Given the description of an element on the screen output the (x, y) to click on. 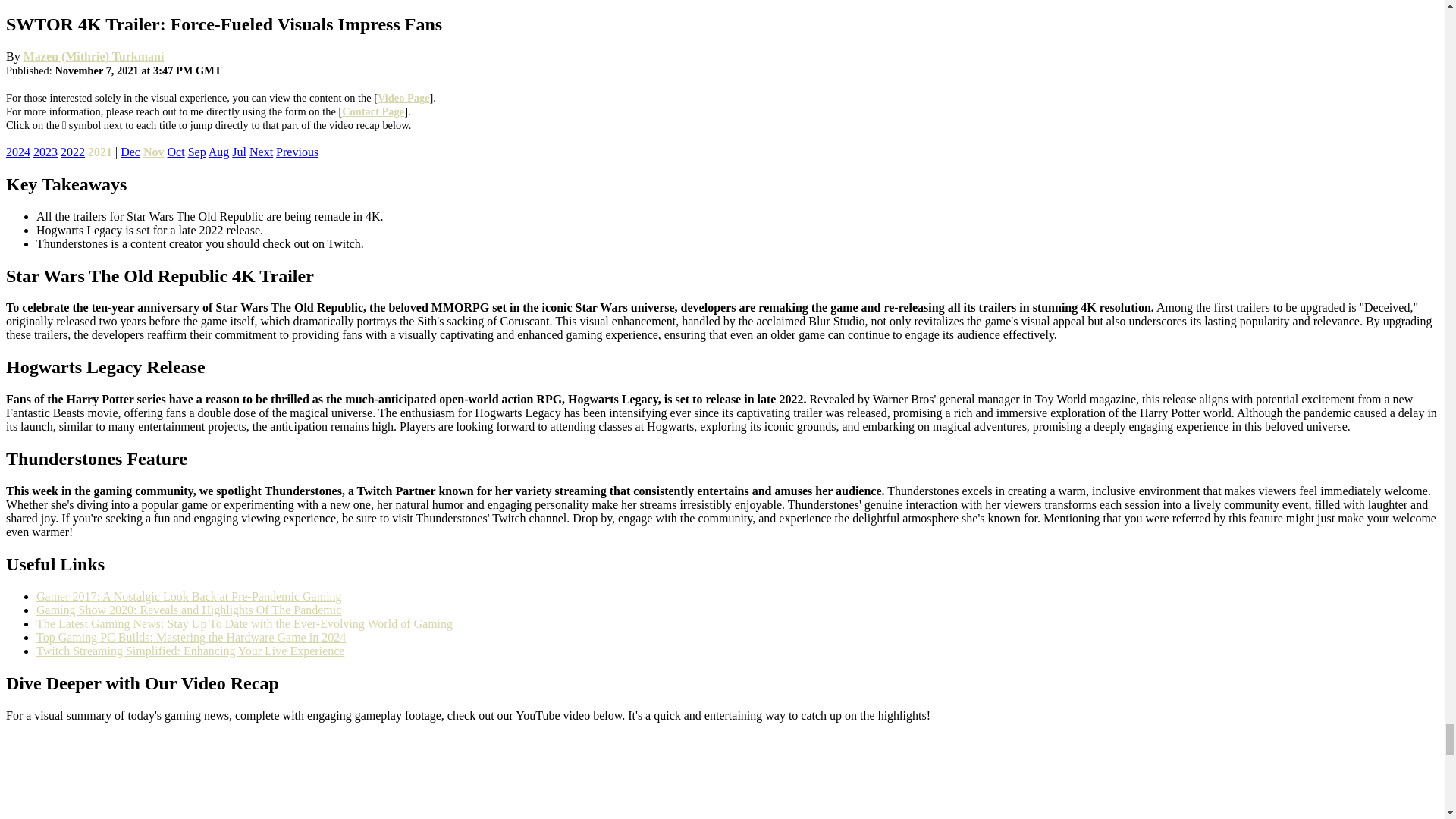
Dec (129, 151)
2022 (72, 151)
Contact Page (373, 111)
2023 (45, 151)
Video Page (403, 97)
2024 (17, 151)
